Given the description of an element on the screen output the (x, y) to click on. 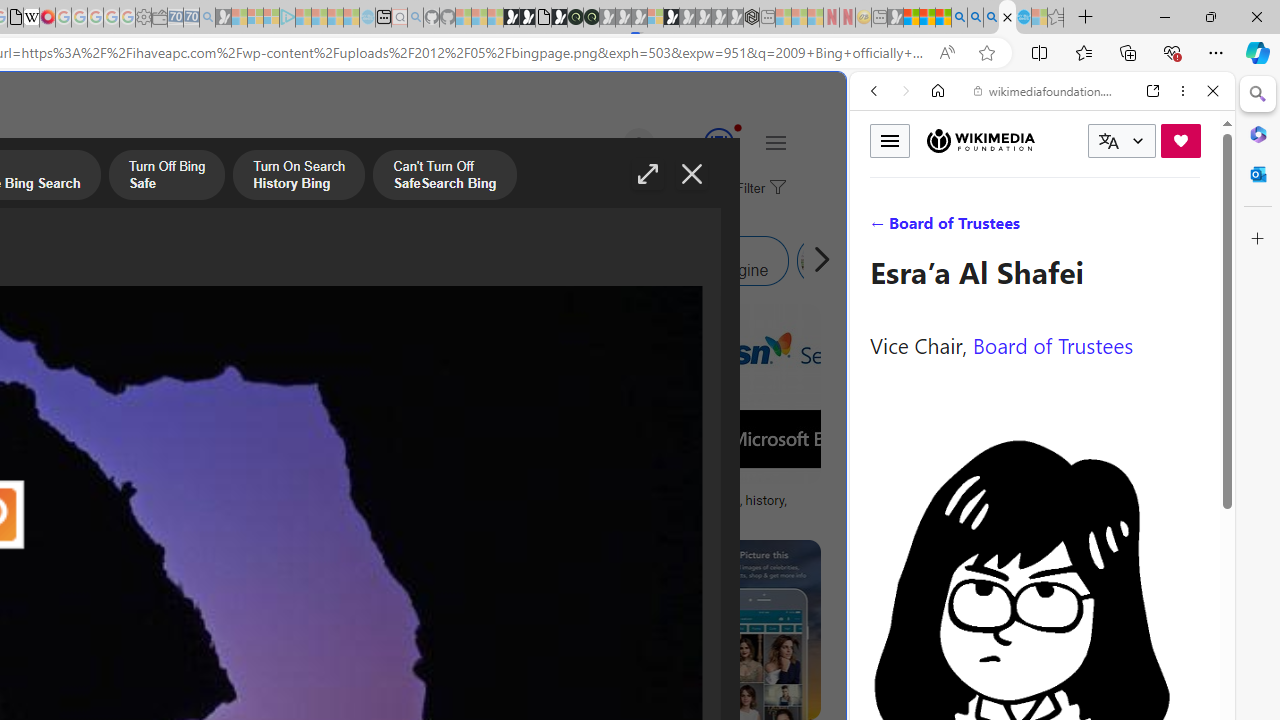
Can't Turn Off SafeSearch Bing (444, 177)
Global web icon (888, 669)
CURRENT LANGUAGE: (1121, 141)
VIDEOS (1006, 228)
Class: item col (890, 260)
Microsoft Rewards 84 (700, 143)
Bing Logo, symbol, meaning, history, PNG, brand (695, 508)
